Given the description of an element on the screen output the (x, y) to click on. 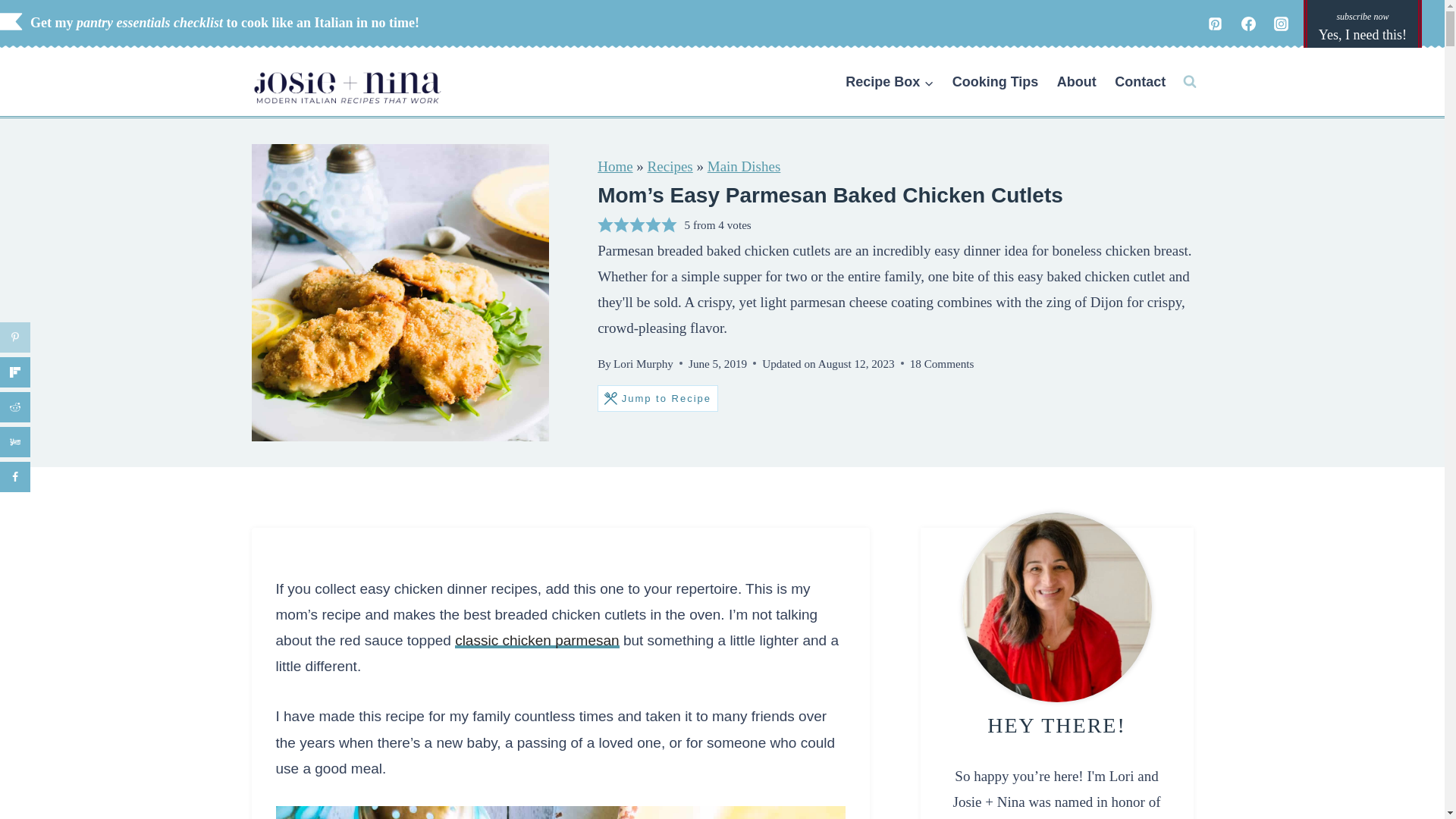
Share on Reddit (15, 407)
Share on Flipboard (15, 372)
18 Comments (942, 362)
Share on Facebook (15, 476)
Share on Yummly (15, 441)
Yes, I need this! (1362, 28)
Save to Pinterest (15, 337)
Recipe Box (889, 81)
Jump to Recipe (656, 397)
